Given the description of an element on the screen output the (x, y) to click on. 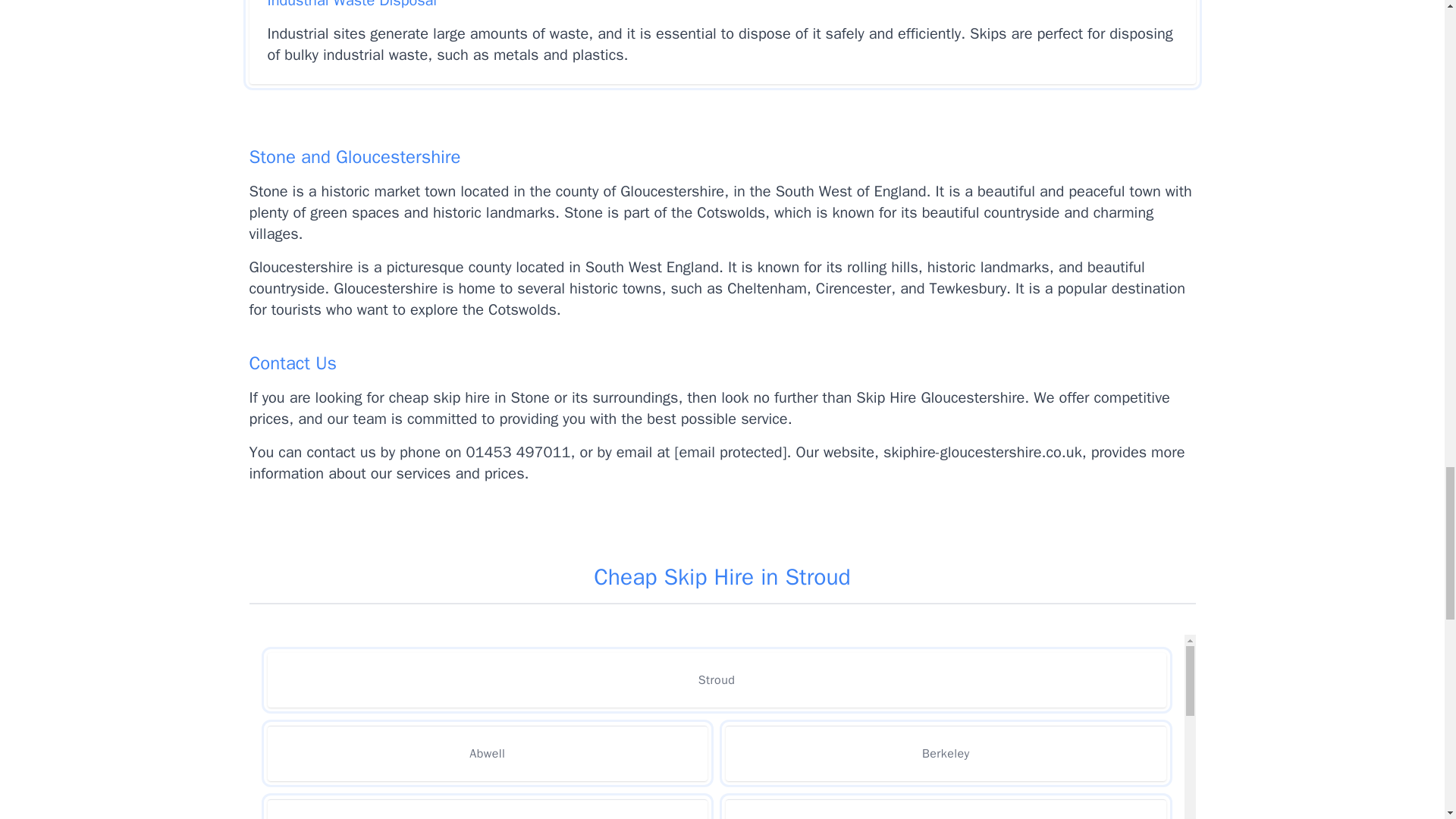
Abwell (486, 753)
Berkeley Heath (486, 809)
Stroud (716, 679)
Berkeley Road (945, 809)
Berkeley (945, 753)
